Given the description of an element on the screen output the (x, y) to click on. 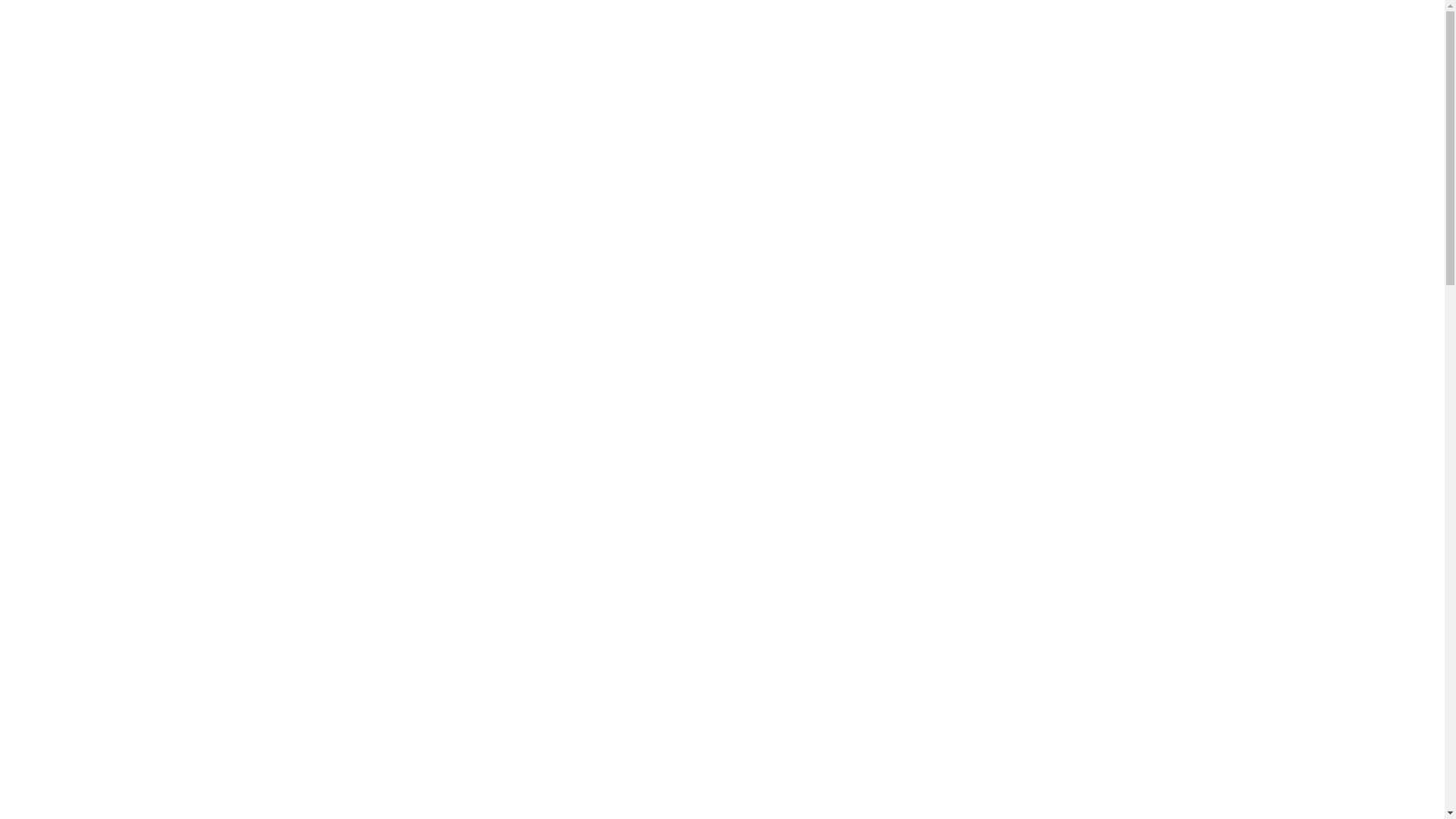
banner1 Element type: hover (721, 264)
  Element type: text (524, 459)
